Given the description of an element on the screen output the (x, y) to click on. 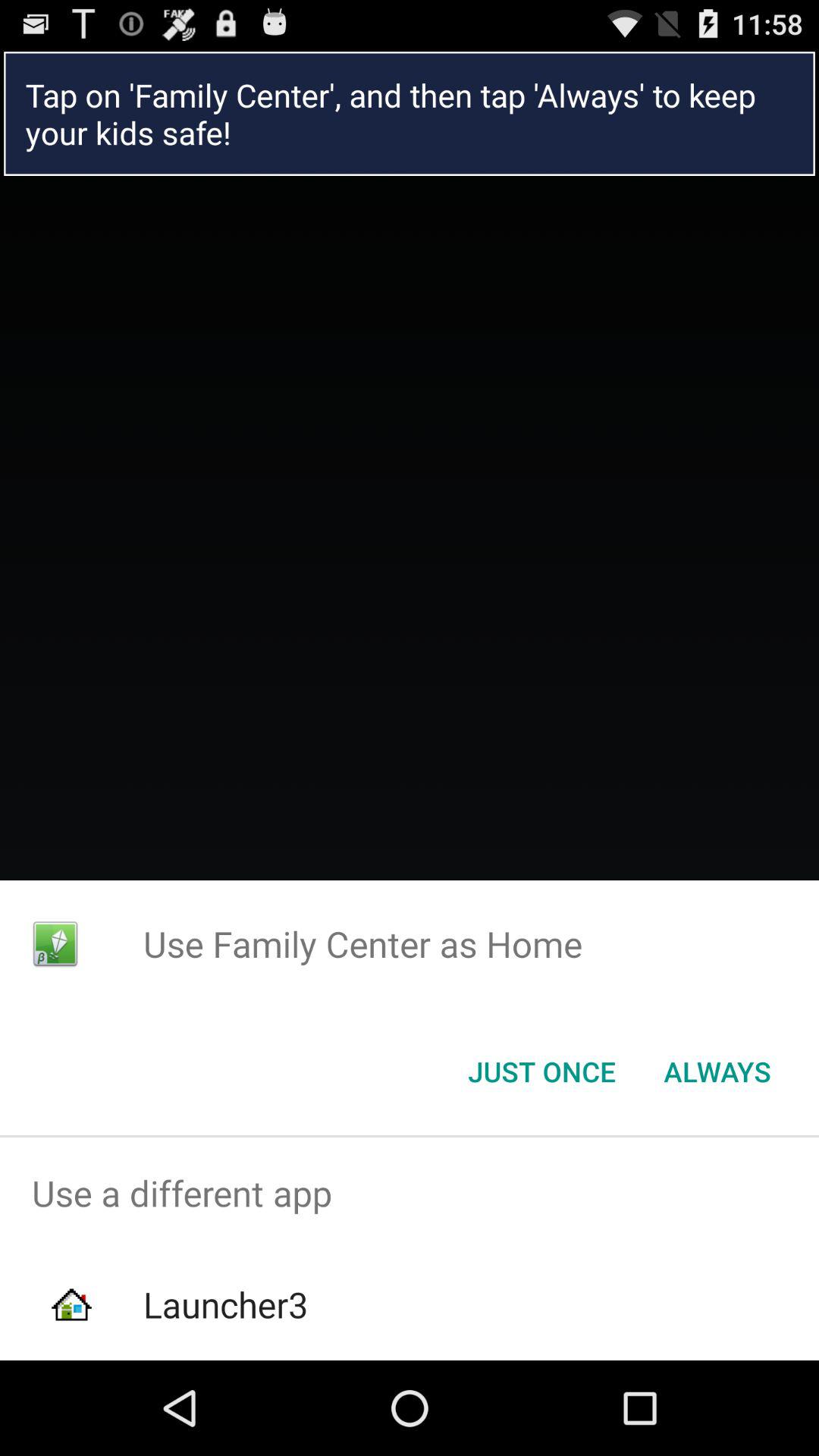
select use a different app (409, 1192)
